Given the description of an element on the screen output the (x, y) to click on. 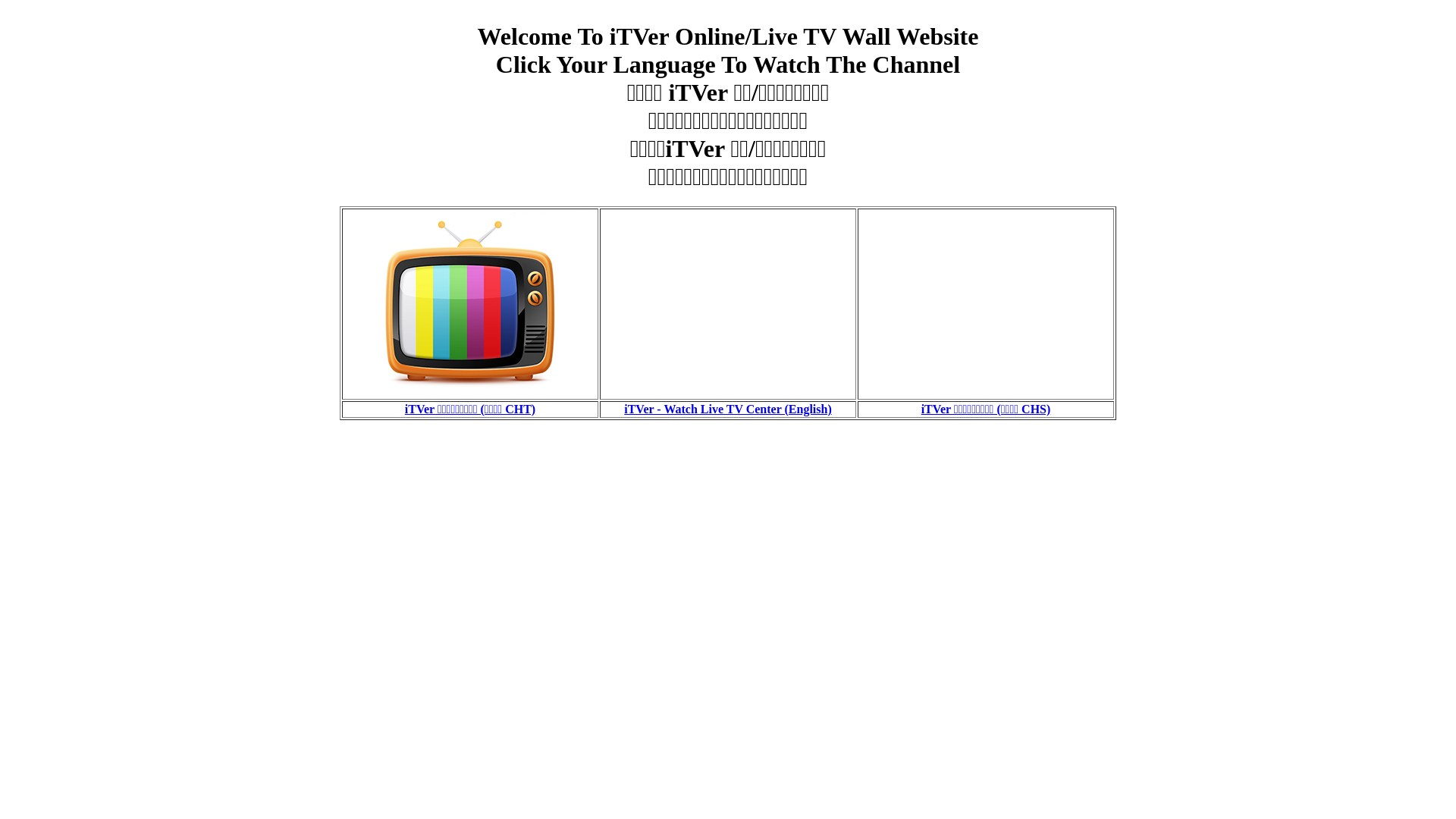
iTVer - Watch Live TV Center (English) Element type: text (727, 408)
